Given the description of an element on the screen output the (x, y) to click on. 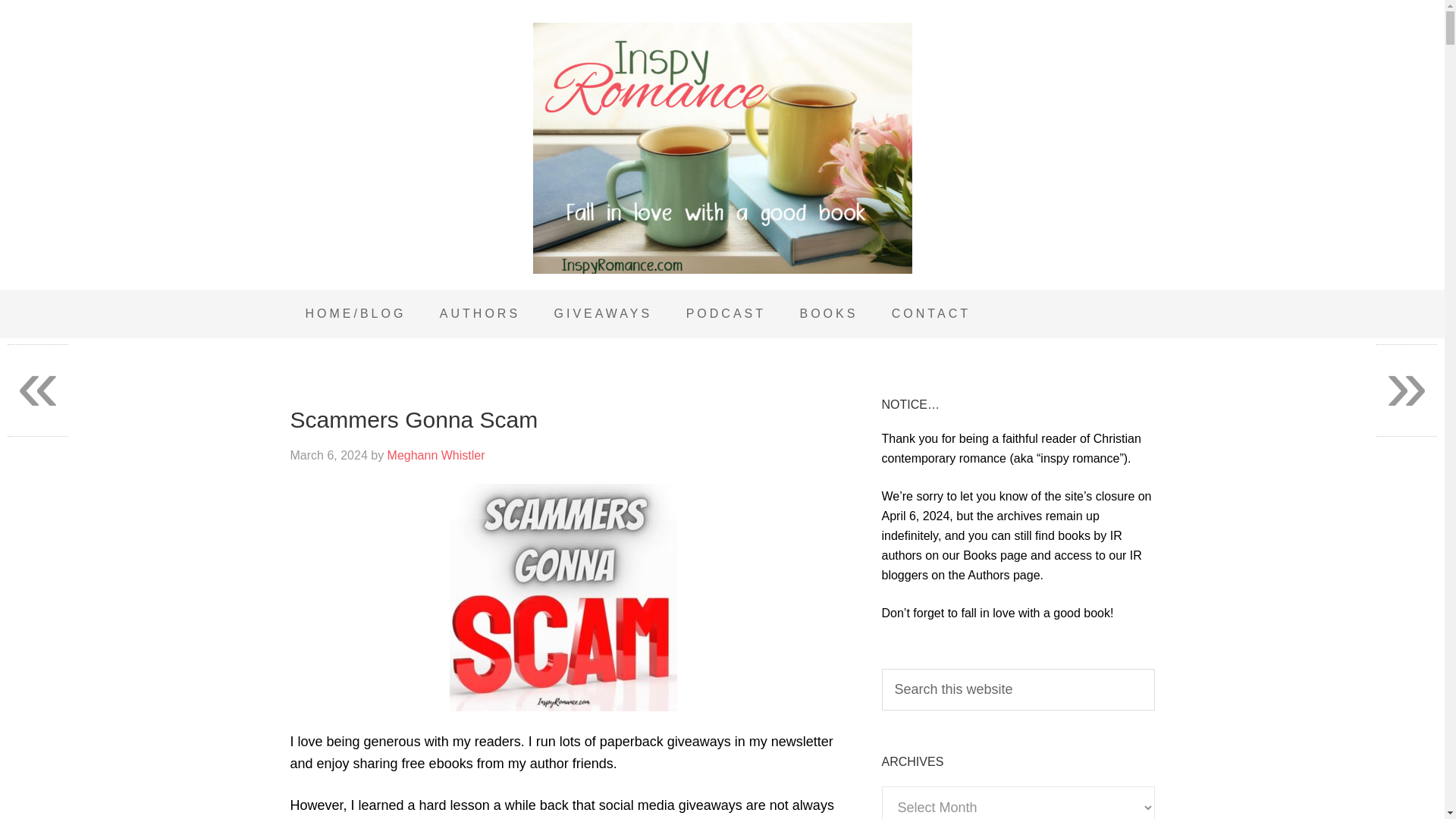
PODCAST (725, 313)
Meghann Whistler (435, 454)
CONTACT (930, 313)
BOOKS (828, 313)
AUTHORS (480, 313)
GIVEAWAYS (603, 313)
